Given the description of an element on the screen output the (x, y) to click on. 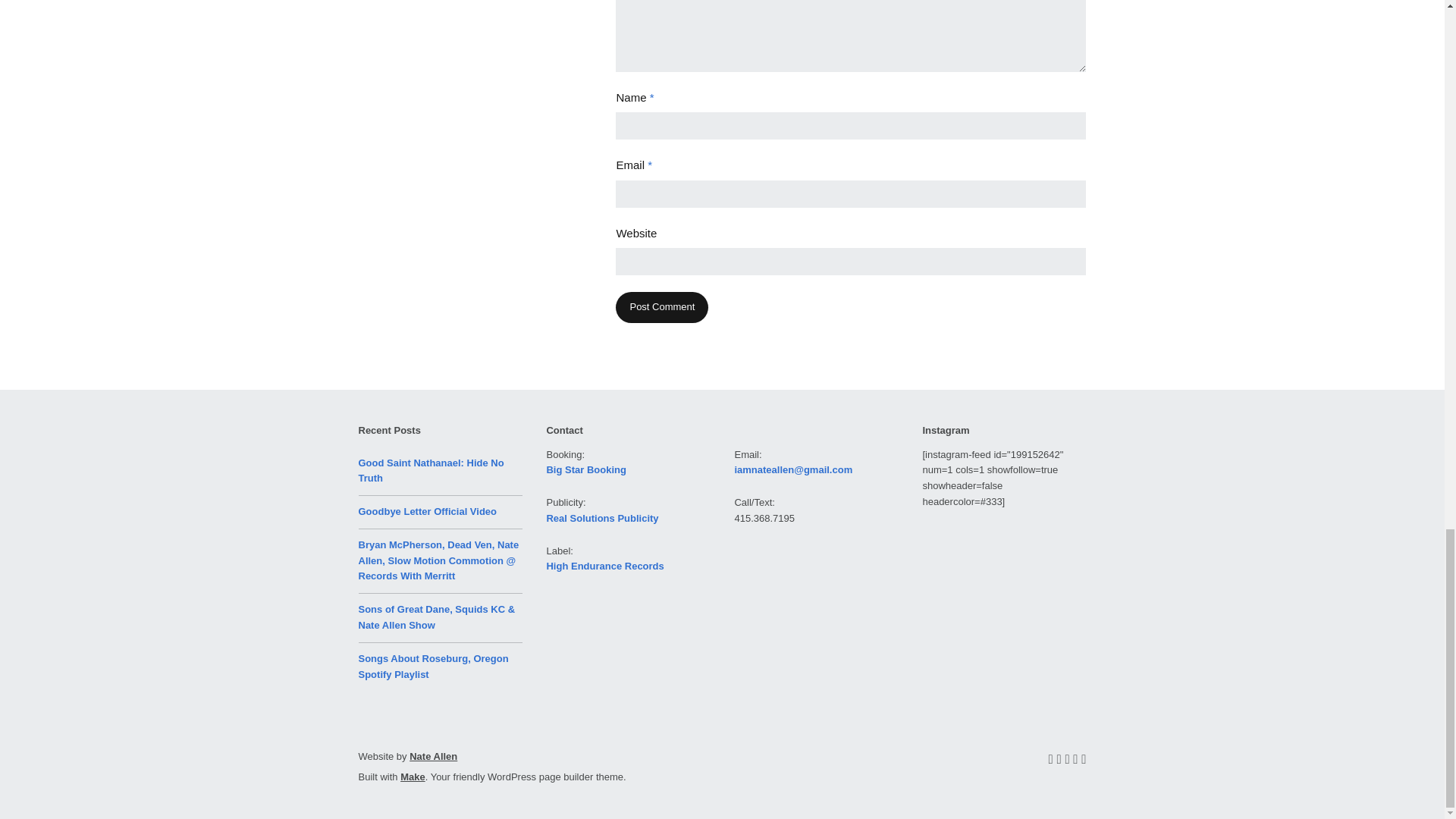
Post Comment (661, 306)
Post Comment (661, 306)
Good Saint Nathanael: Hide No Truth (430, 470)
